Given the description of an element on the screen output the (x, y) to click on. 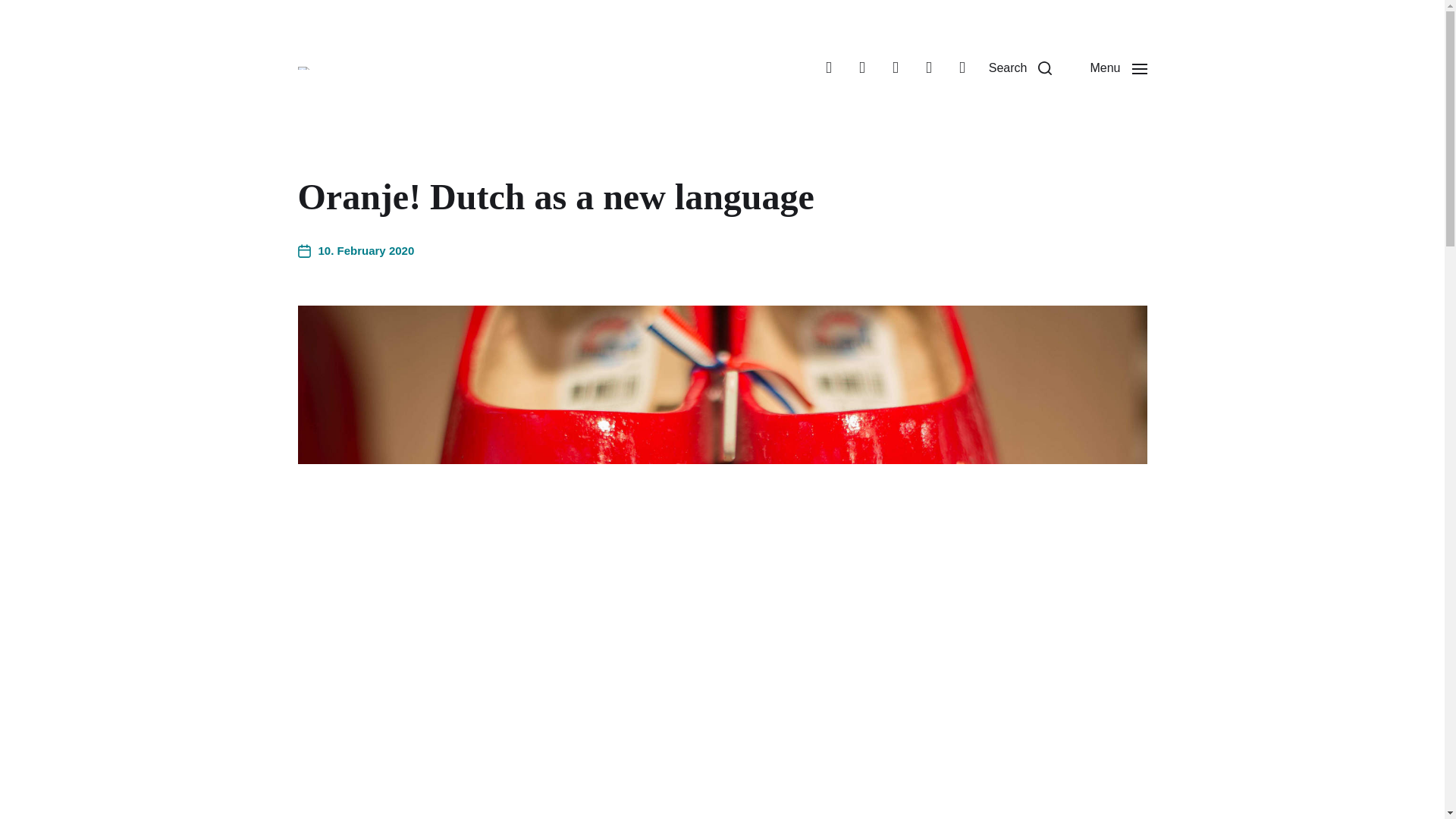
Menu (1118, 68)
Search (1020, 68)
